Given the description of an element on the screen output the (x, y) to click on. 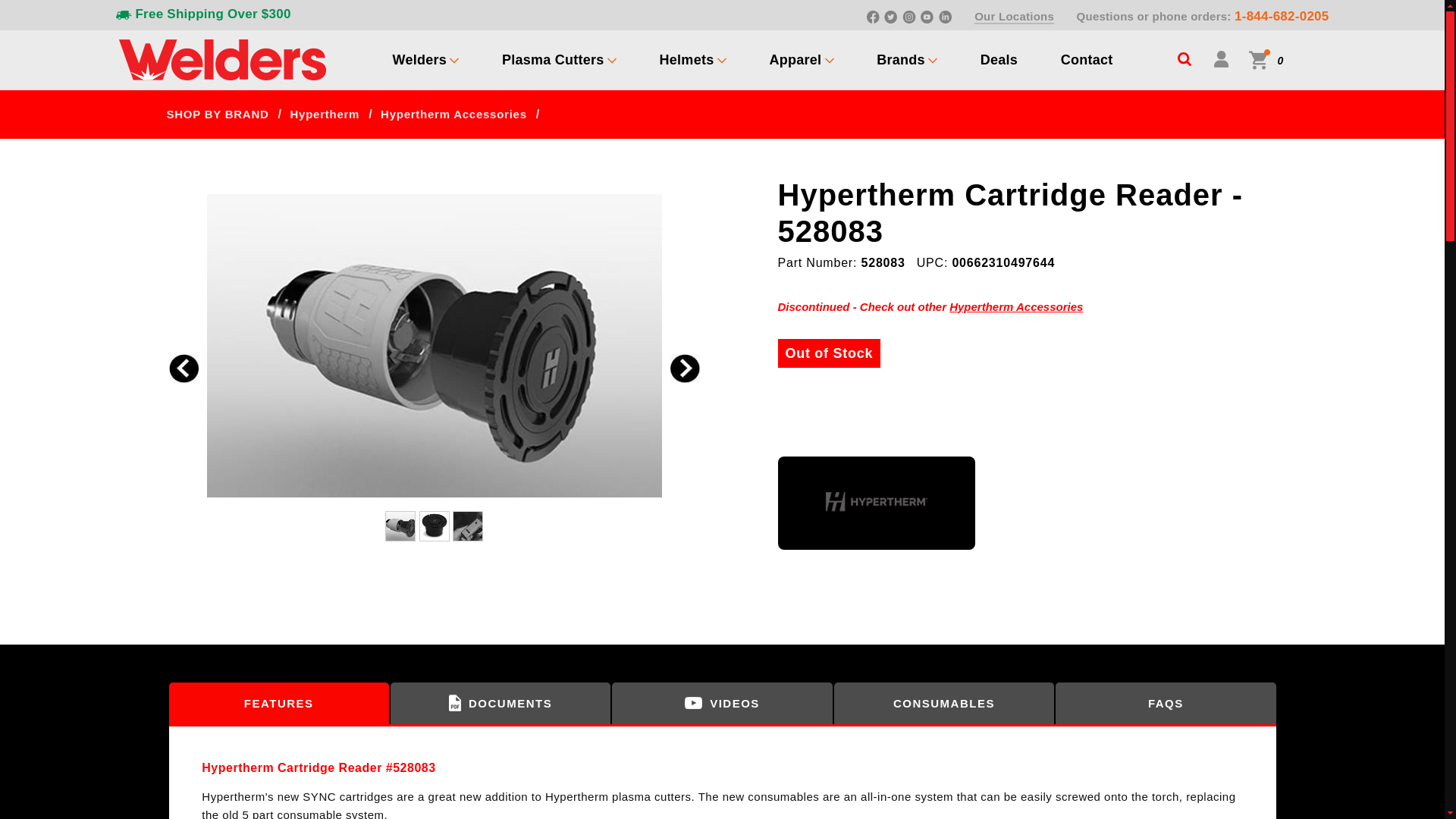
Welders (419, 59)
Questions or phone orders: 1-844-682-0205 (1203, 15)
We Are Welders (221, 58)
Plasma Cutters (553, 59)
The worlds best plasma prices at the lowest prices (553, 59)
Helmets (686, 59)
Our Locations (1014, 16)
